Given the description of an element on the screen output the (x, y) to click on. 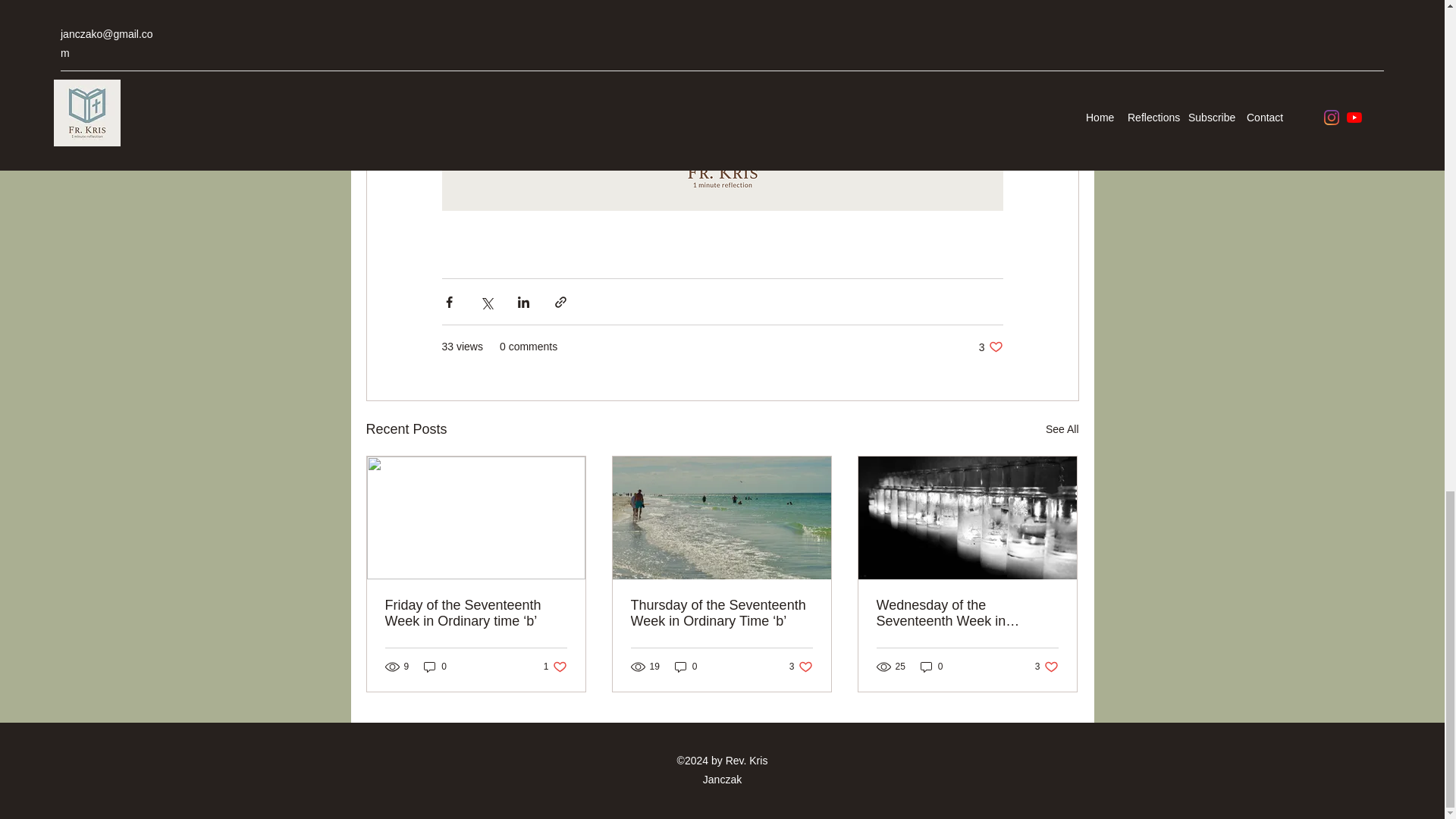
See All (555, 667)
0 (1061, 429)
0 (435, 667)
0 (931, 667)
